Given the description of an element on the screen output the (x, y) to click on. 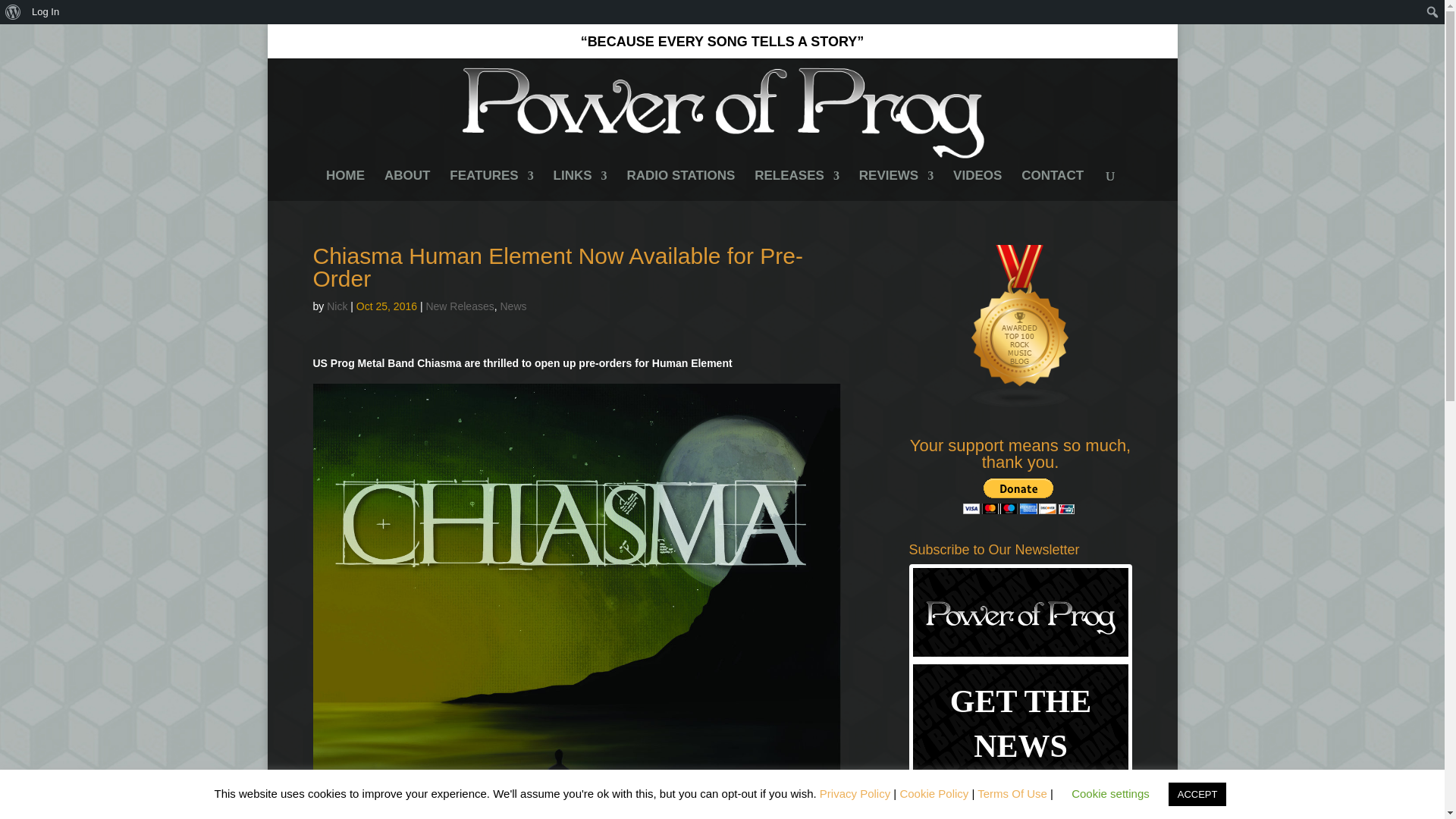
FEATURES (490, 185)
Log In (45, 12)
REVIEWS (896, 185)
VIDEOS (977, 185)
Rock Music blogs (1020, 404)
CONTACT (1052, 185)
ABOUT (406, 185)
RELEASES (797, 185)
LINKS (580, 185)
HOME (345, 185)
Posts by Nick (336, 306)
Search (16, 13)
RADIO STATIONS (680, 185)
